Given the description of an element on the screen output the (x, y) to click on. 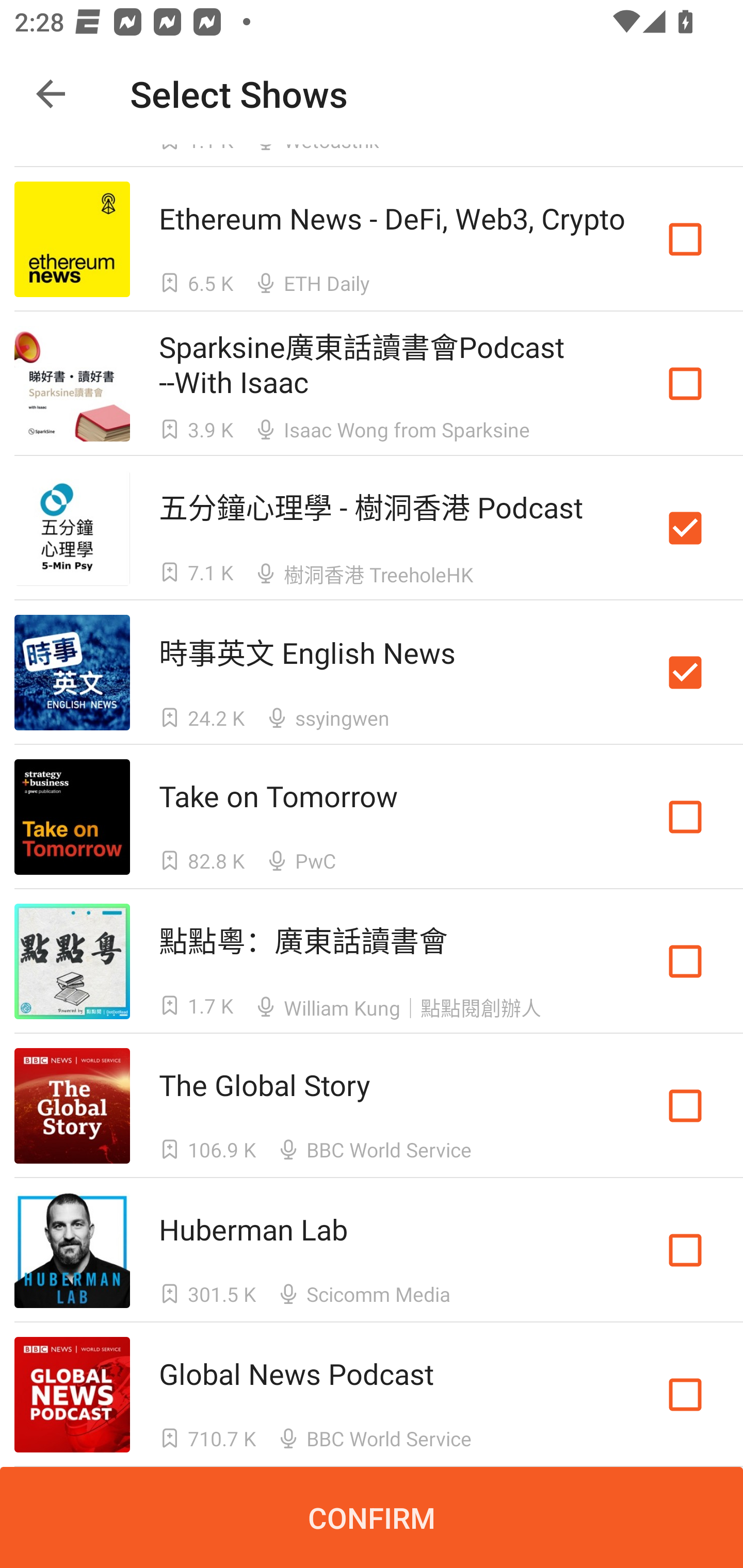
Navigate up (50, 93)
Take on Tomorrow Take on Tomorrow  82.8 K  PwC (371, 816)
CONFIRM (371, 1517)
